Given the description of an element on the screen output the (x, y) to click on. 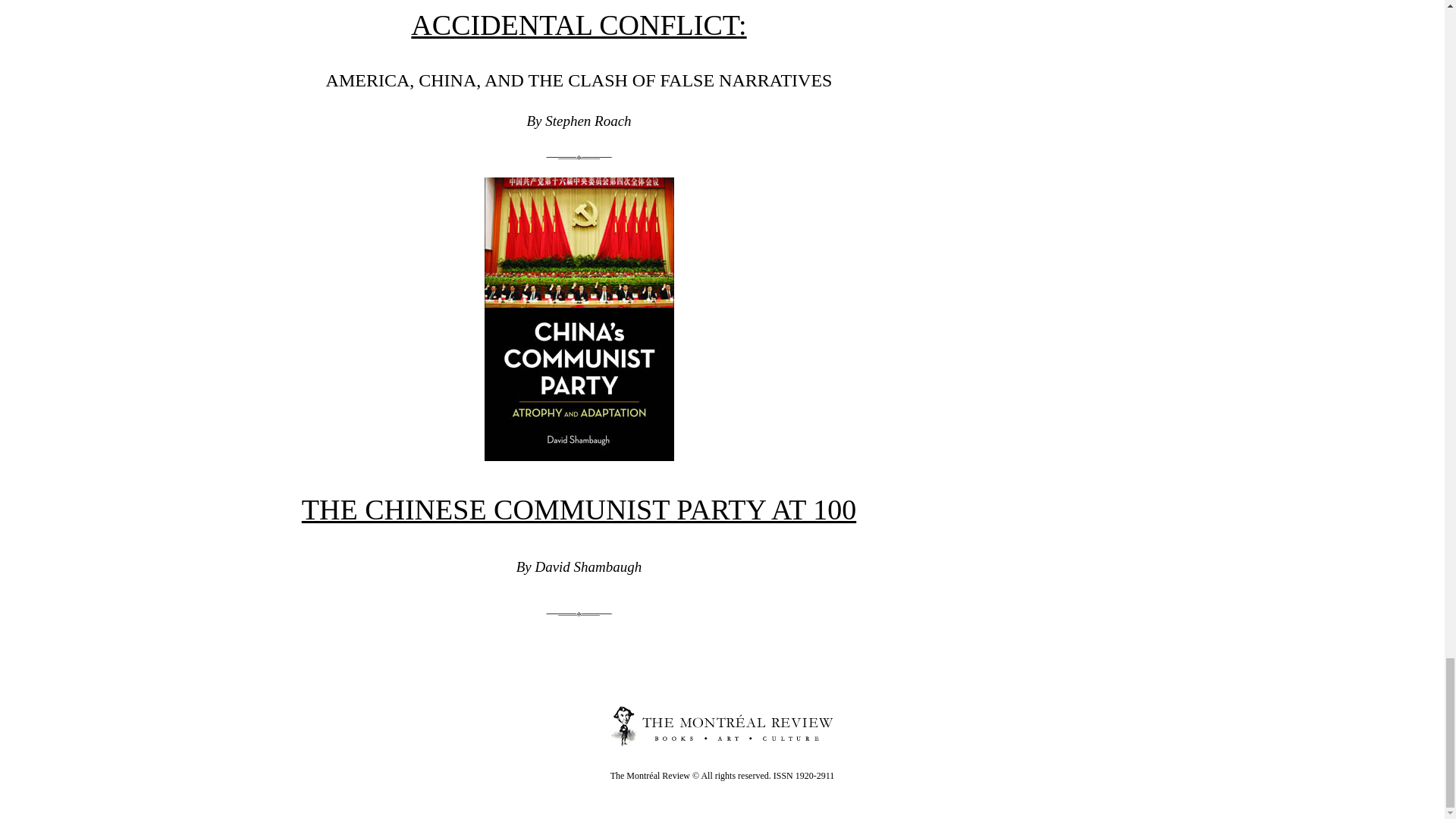
ACCIDENTAL CONFLICT: (577, 24)
THE CHINESE COMMUNIST PARTY AT 100 (578, 509)
